Given the description of an element on the screen output the (x, y) to click on. 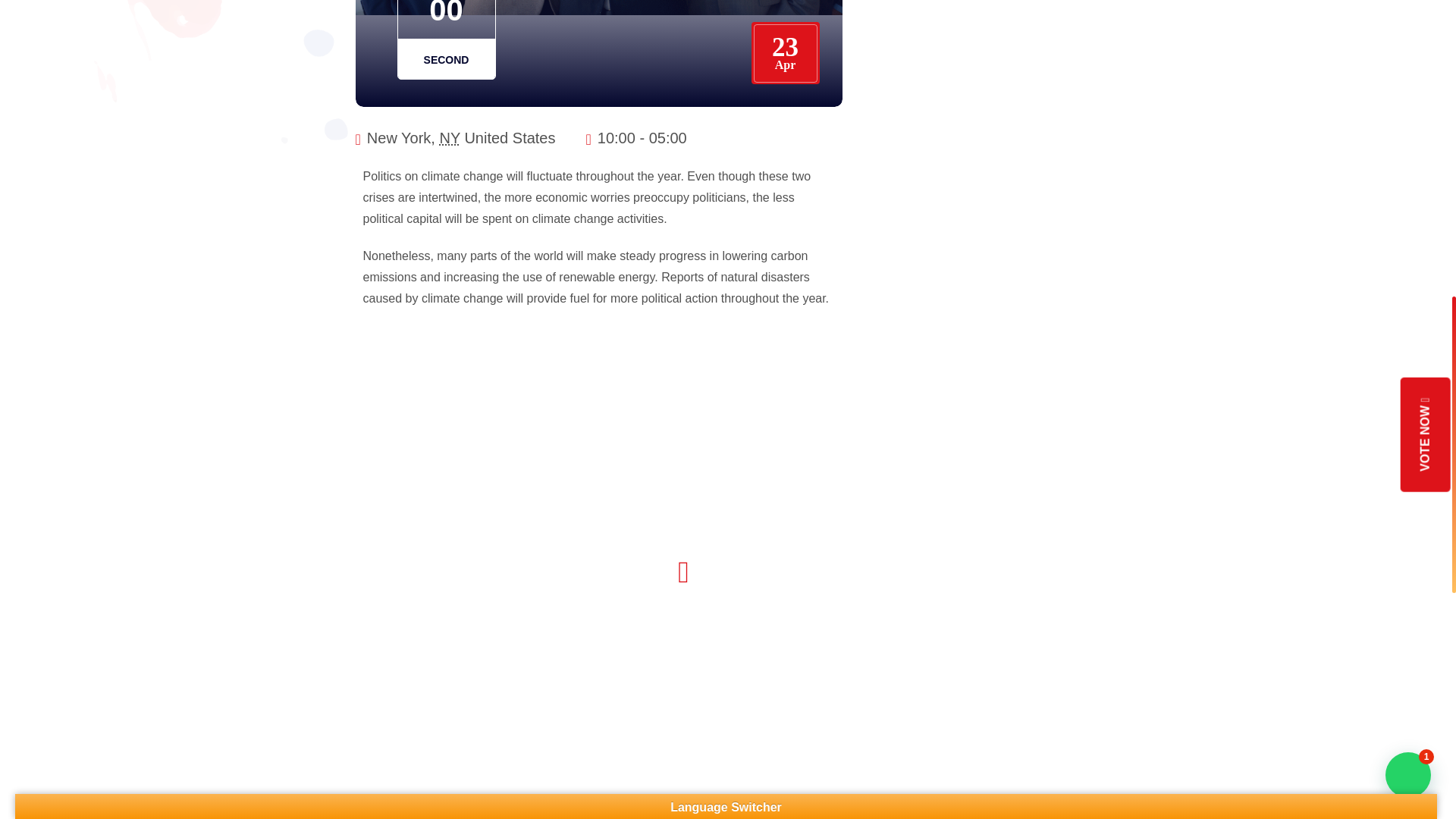
New York (449, 137)
